Given the description of an element on the screen output the (x, y) to click on. 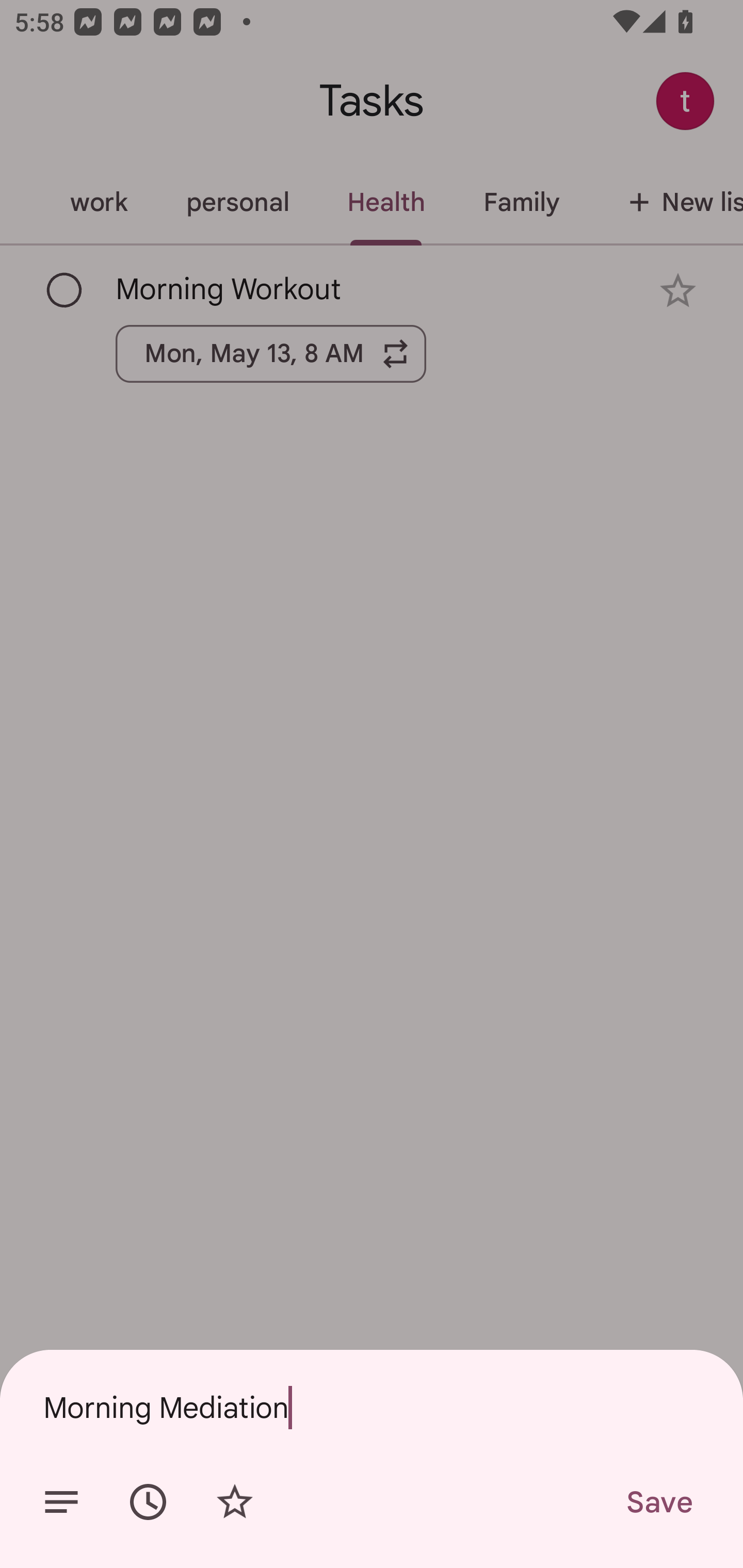
Morning Mediation (371, 1407)
Save (659, 1501)
Add details (60, 1501)
Set date/time (147, 1501)
Add star (234, 1501)
